Given the description of an element on the screen output the (x, y) to click on. 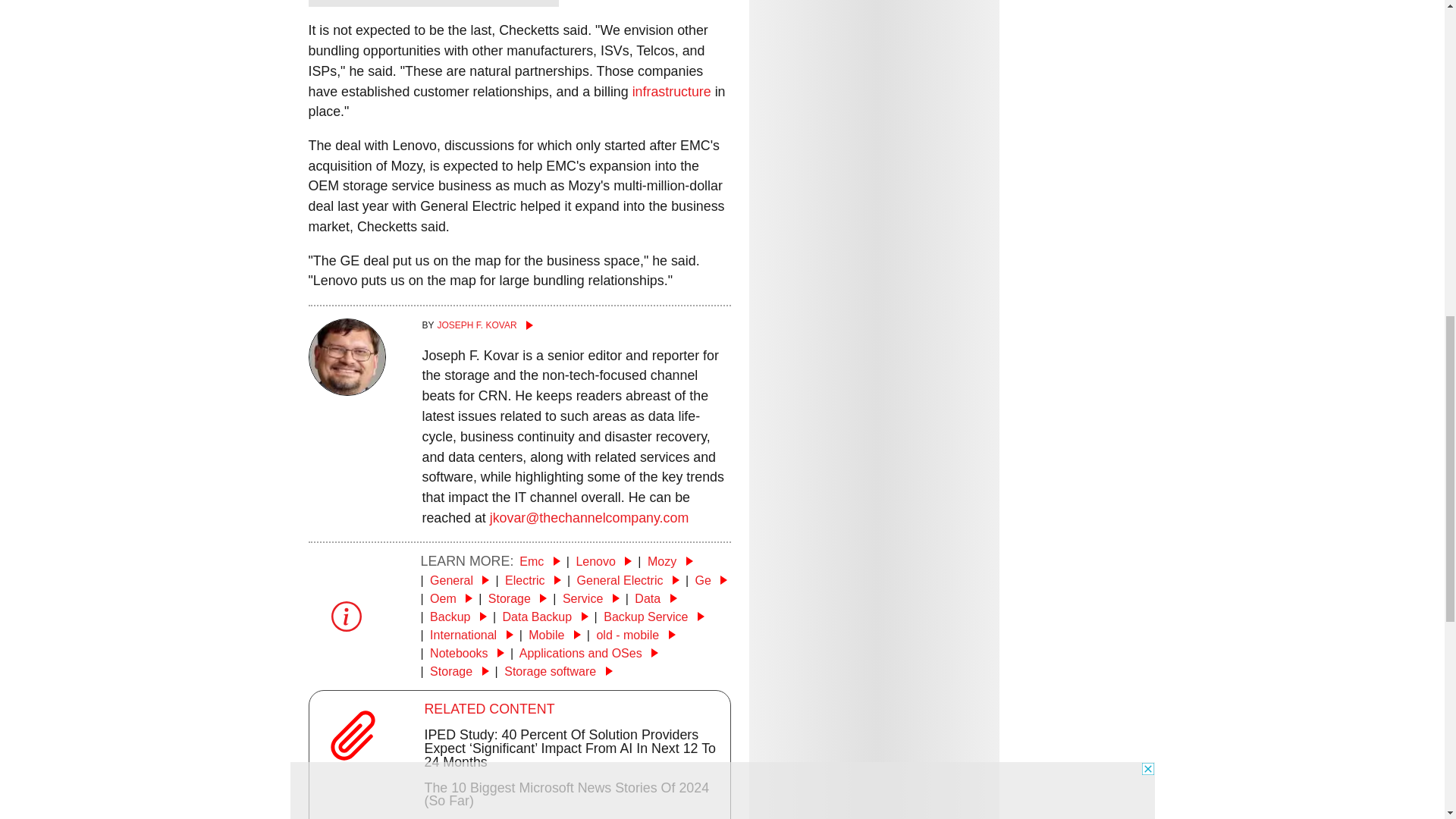
infrastructure (671, 90)
Electric (532, 580)
General (459, 580)
Ge (710, 580)
Oem (450, 598)
Lenovo (603, 561)
Joseph F. Kovar (346, 391)
General Electric (627, 580)
Storage (517, 598)
Emc (539, 561)
